Given the description of an element on the screen output the (x, y) to click on. 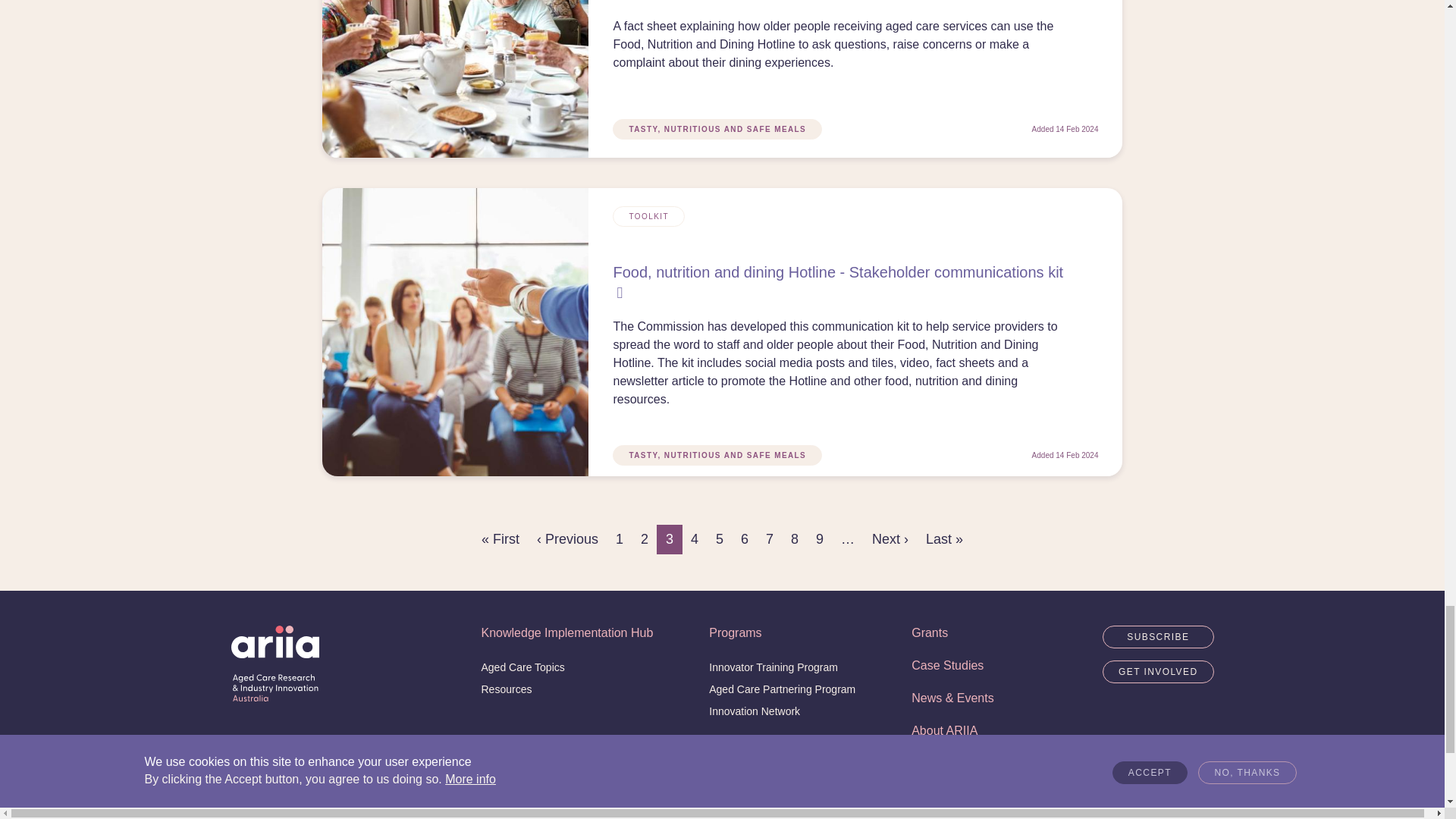
Go to first page (499, 539)
Go to previous page (567, 539)
Go to last page (944, 539)
Go to next page (890, 539)
